Given the description of an element on the screen output the (x, y) to click on. 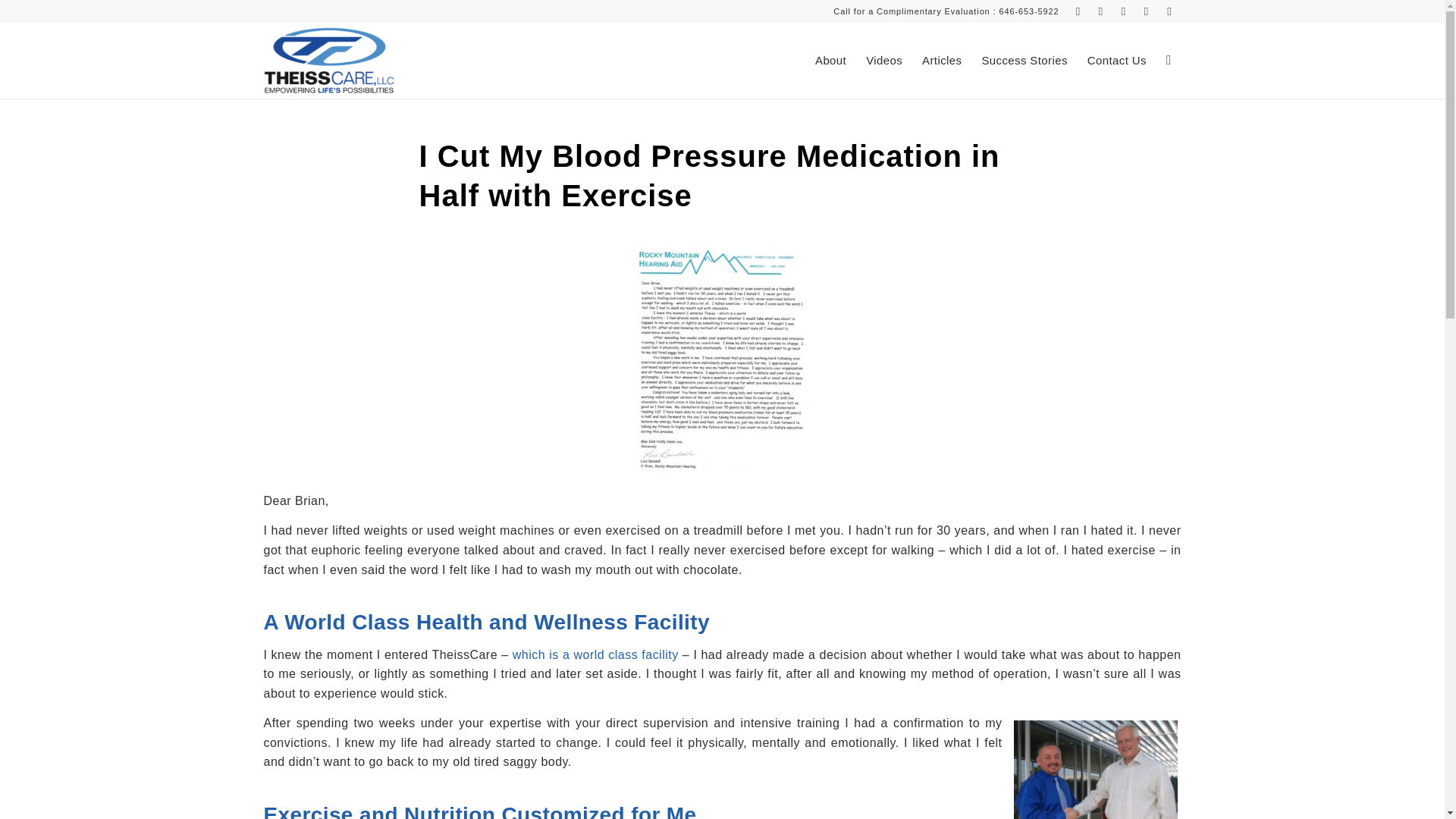
X (1078, 11)
Instagram (1124, 11)
Youtube (1169, 11)
which is a world class facility (595, 654)
Facebook (1101, 11)
Success Stories (1024, 60)
LinkedIn (1146, 11)
Contact Us (1116, 60)
